Given the description of an element on the screen output the (x, y) to click on. 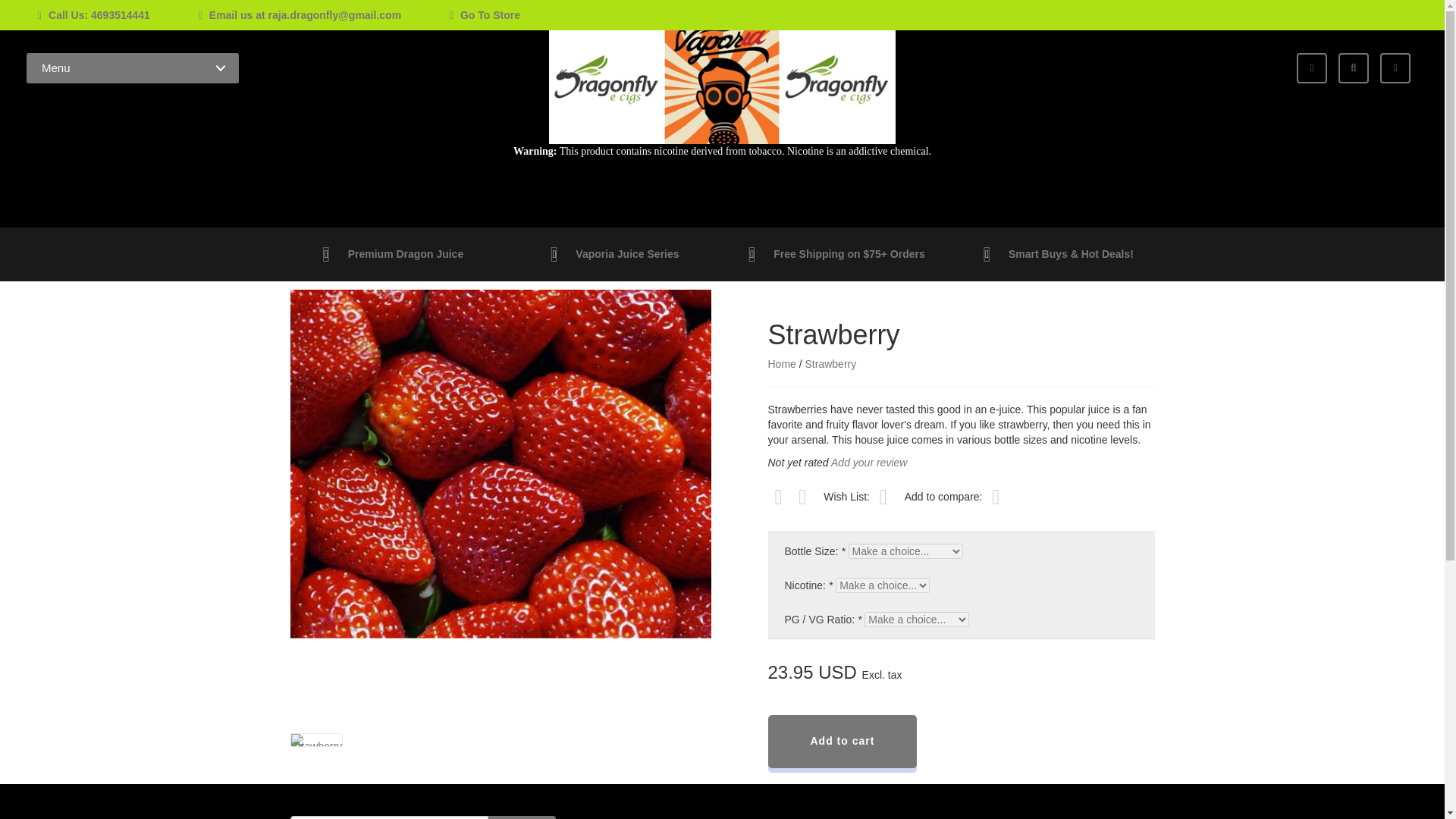
Go To Store (461, 15)
Call Us: 4693514441 (93, 15)
Menu (132, 68)
